Given the description of an element on the screen output the (x, y) to click on. 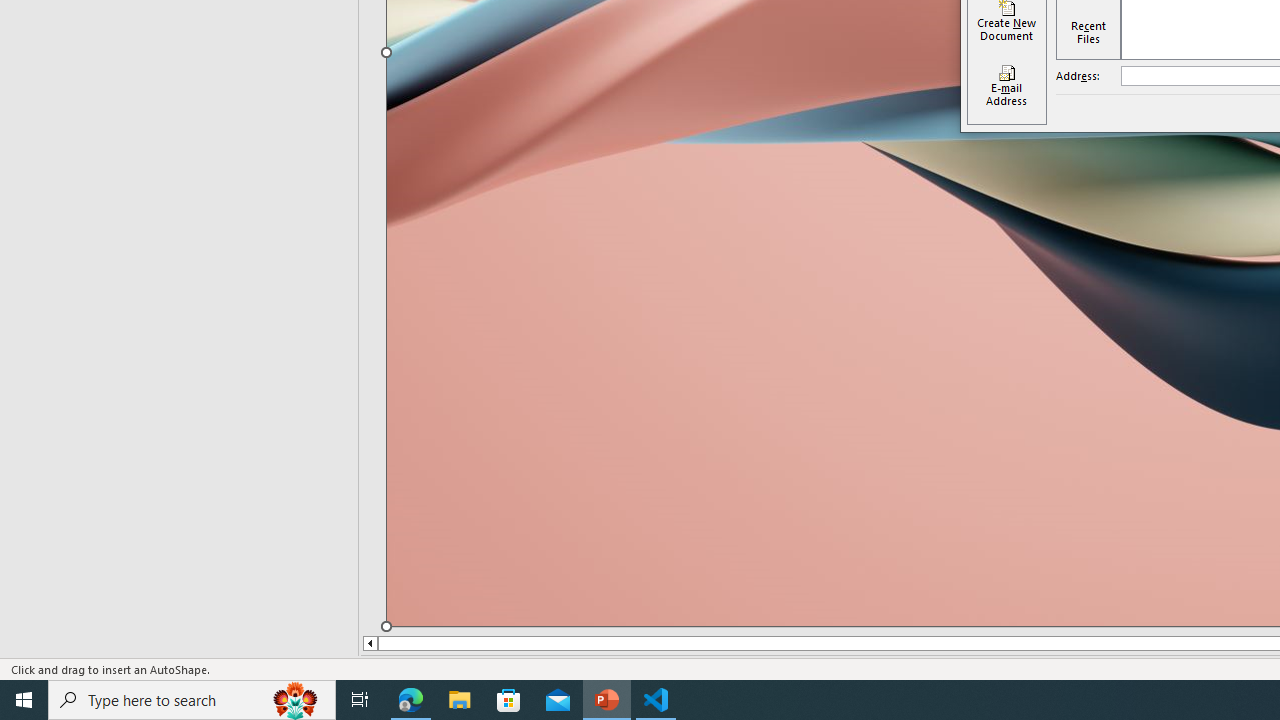
E-mail Address (1006, 86)
Recent Files (1088, 32)
